Given the description of an element on the screen output the (x, y) to click on. 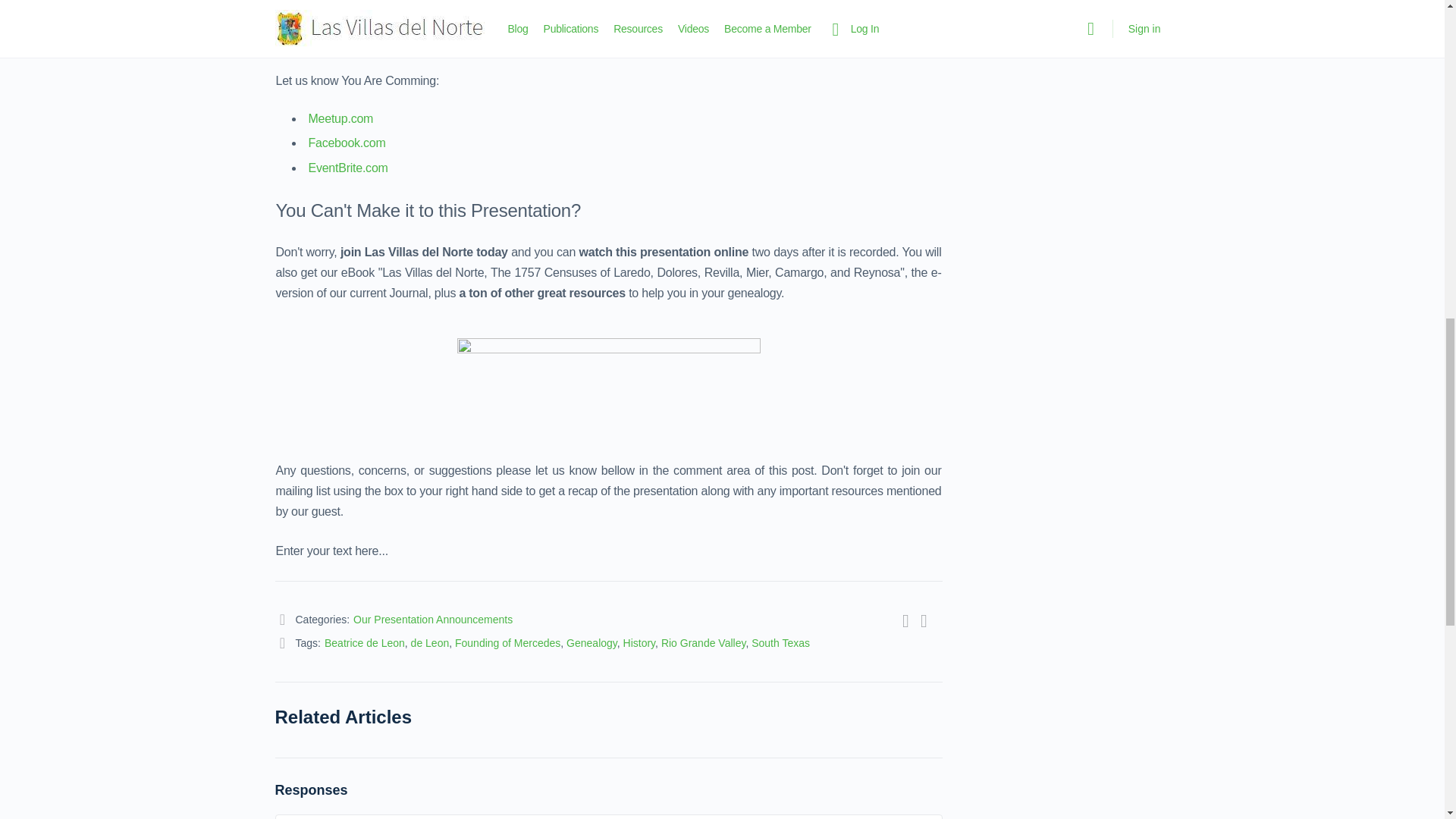
History (639, 643)
Genealogy (591, 643)
Meetup.com (339, 118)
de Leon (429, 643)
Beatrice de Leon (364, 643)
South Texas (780, 643)
Founding of Mercedes (507, 643)
Rio Grande Valley (703, 643)
Our Presentation Announcements (432, 619)
Facebook.com  (347, 142)
EventBrite.com (347, 167)
